Given the description of an element on the screen output the (x, y) to click on. 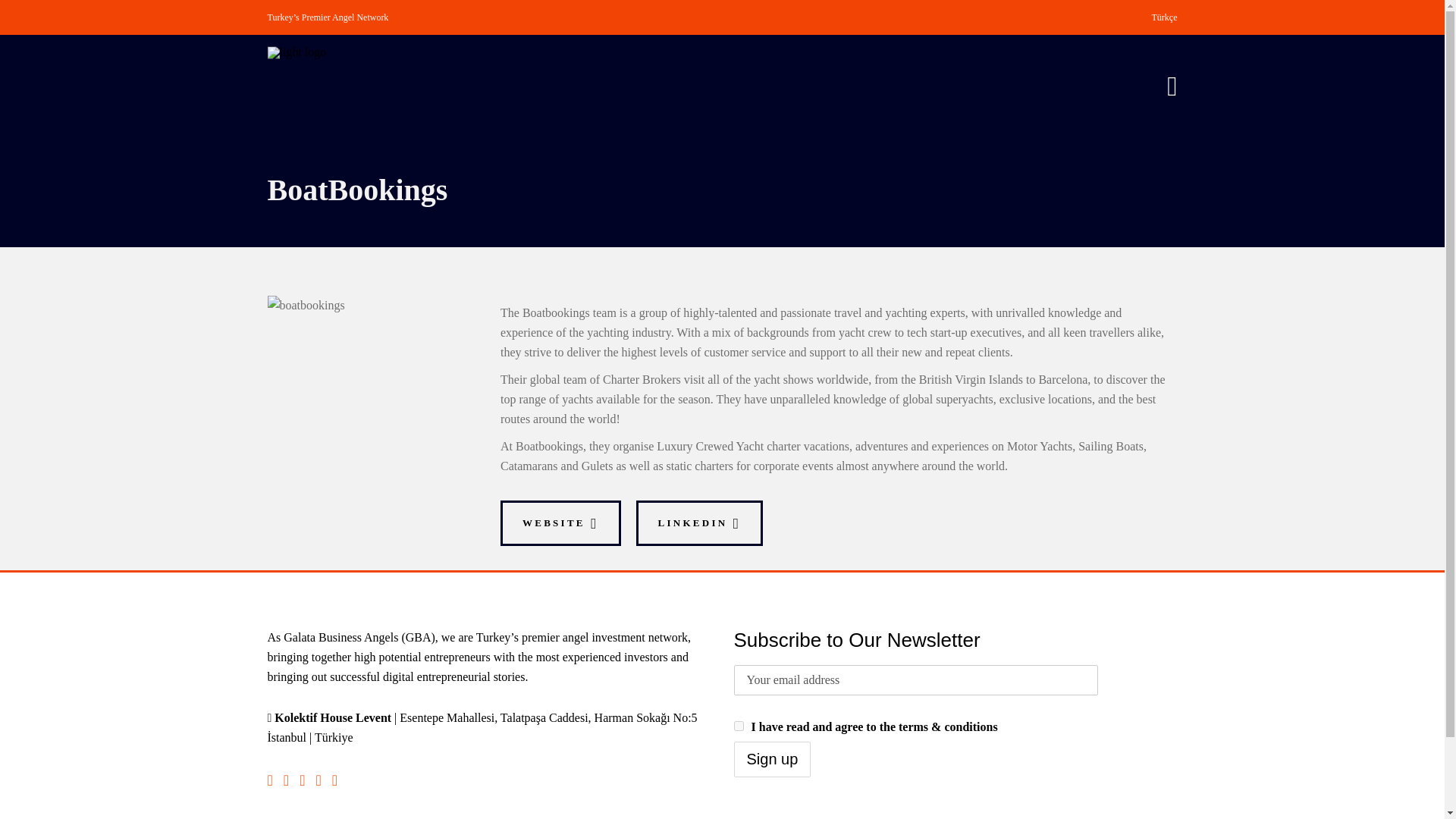
WEBSITE (560, 523)
Sign up (771, 759)
Sign up (771, 759)
LINKEDIN (699, 523)
BoatBookings 1 (304, 305)
1 (738, 726)
